Given the description of an element on the screen output the (x, y) to click on. 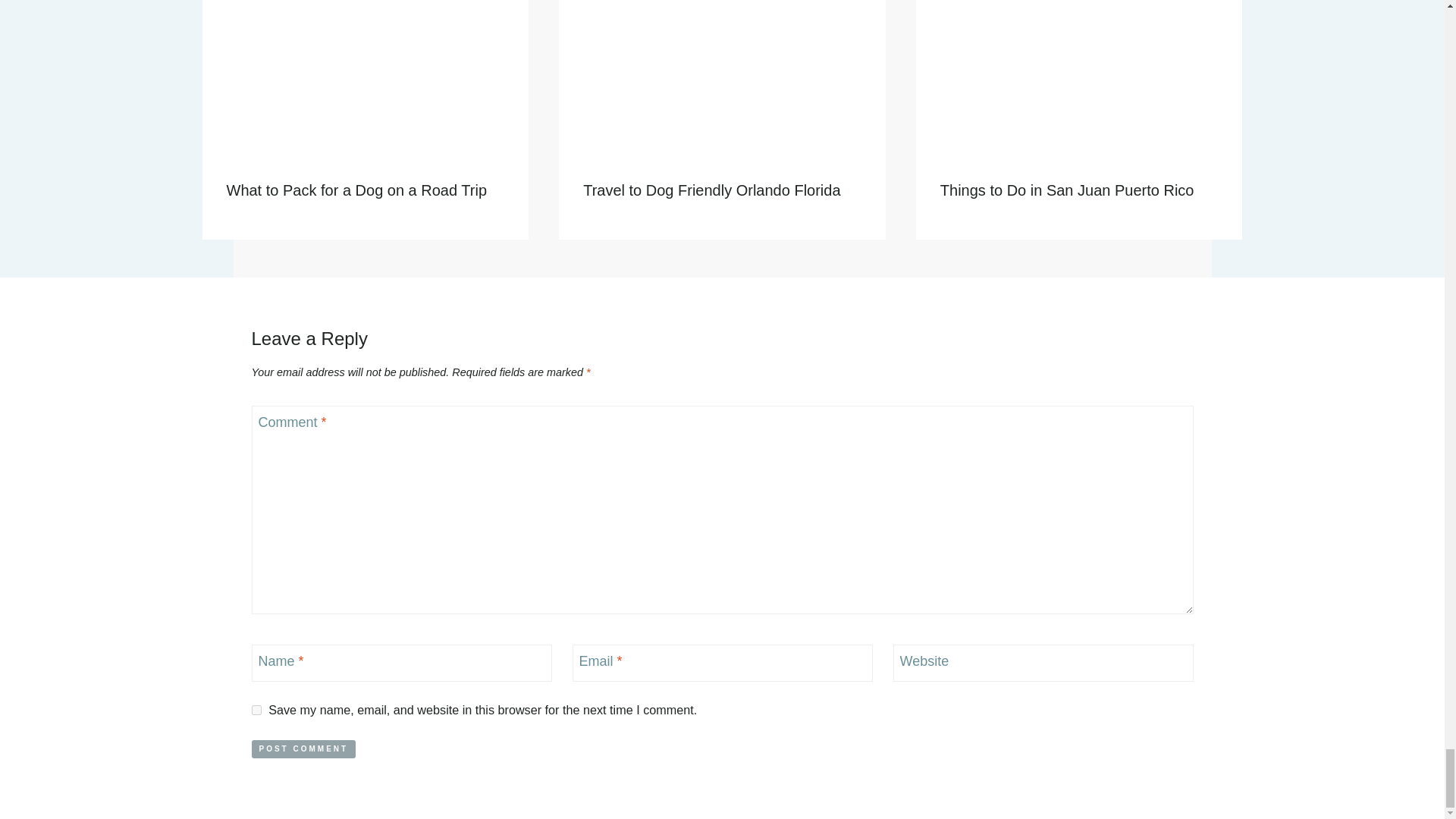
Post Comment (303, 749)
yes (256, 709)
